Given the description of an element on the screen output the (x, y) to click on. 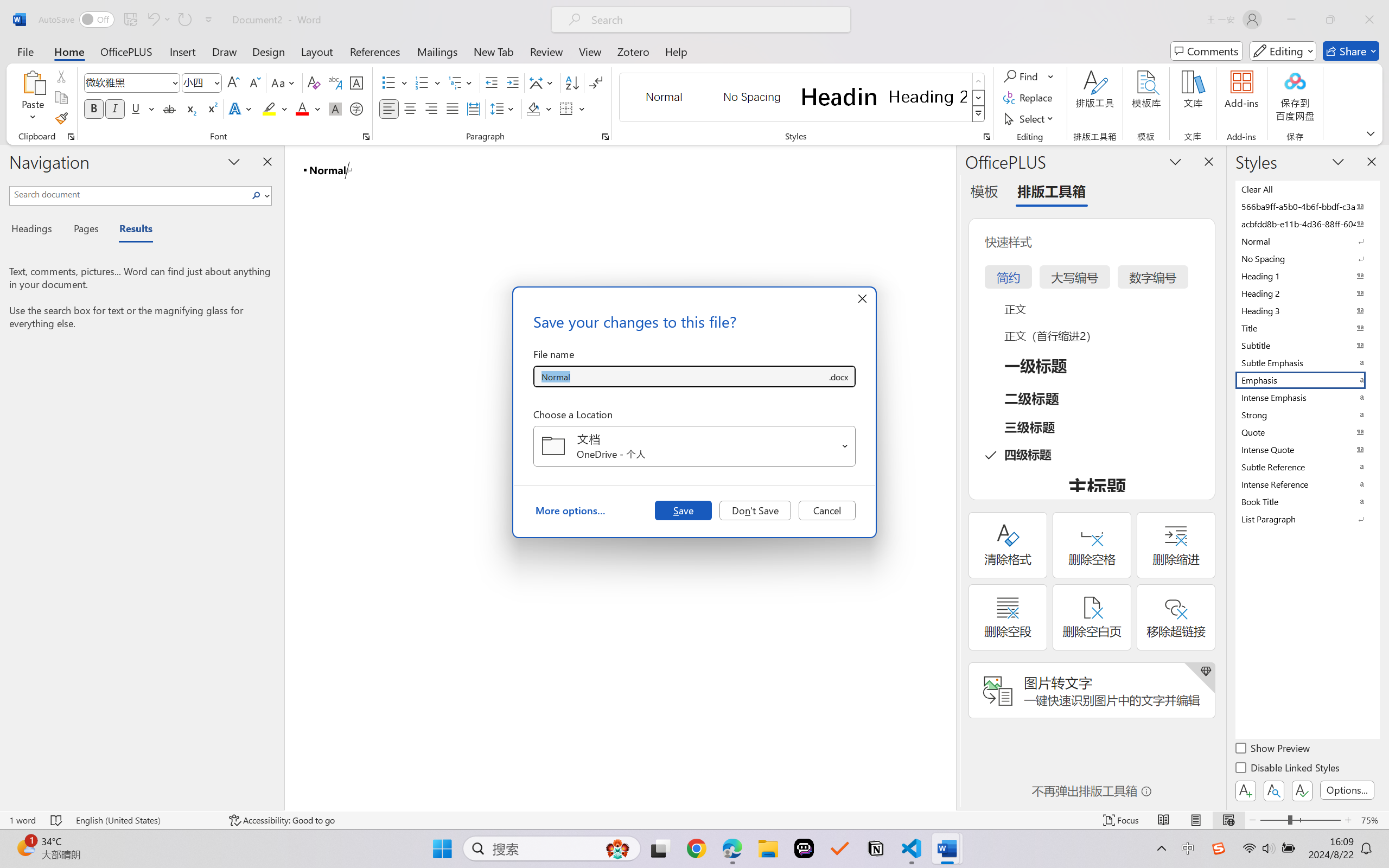
acbfdd8b-e11b-4d36-88ff-6049b138f862 (1306, 223)
Quote (1306, 431)
Zotero (632, 51)
Paste (33, 81)
Results (130, 229)
Class: MsoCommandBar (694, 819)
Shading RGB(0, 0, 0) (533, 108)
Focus  (1121, 819)
Bullets (395, 82)
File Tab (24, 51)
AutomationID: DynamicSearchBoxGleamImage (617, 848)
Heading 1 (839, 96)
Sort... (571, 82)
Microsoft search (715, 19)
